Given the description of an element on the screen output the (x, y) to click on. 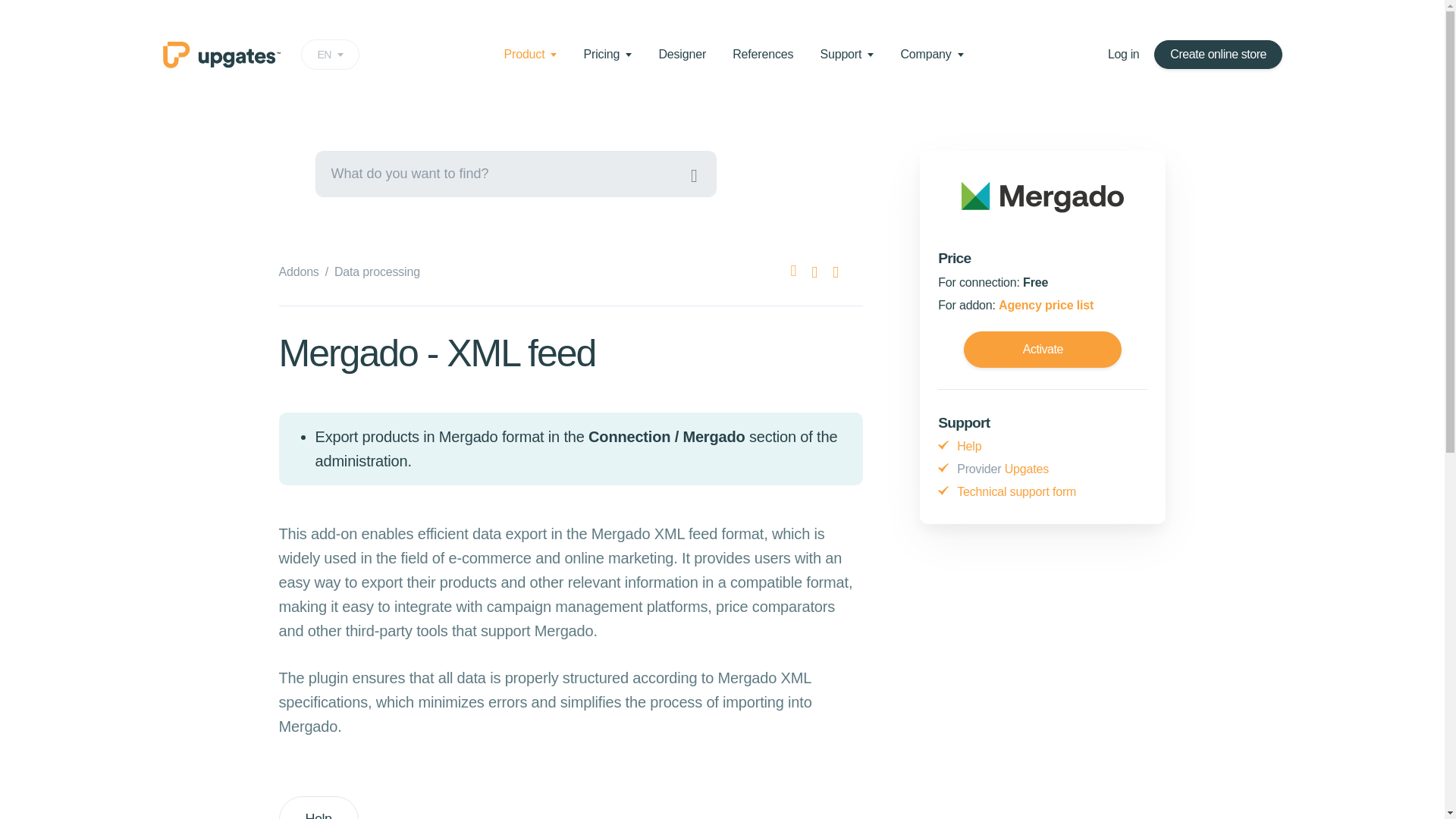
Log in (1123, 53)
Data processing (377, 271)
Pricing (607, 53)
Designer (682, 53)
Help (318, 807)
Product (330, 54)
References (530, 53)
Addons (762, 53)
Support (298, 271)
